Given the description of an element on the screen output the (x, y) to click on. 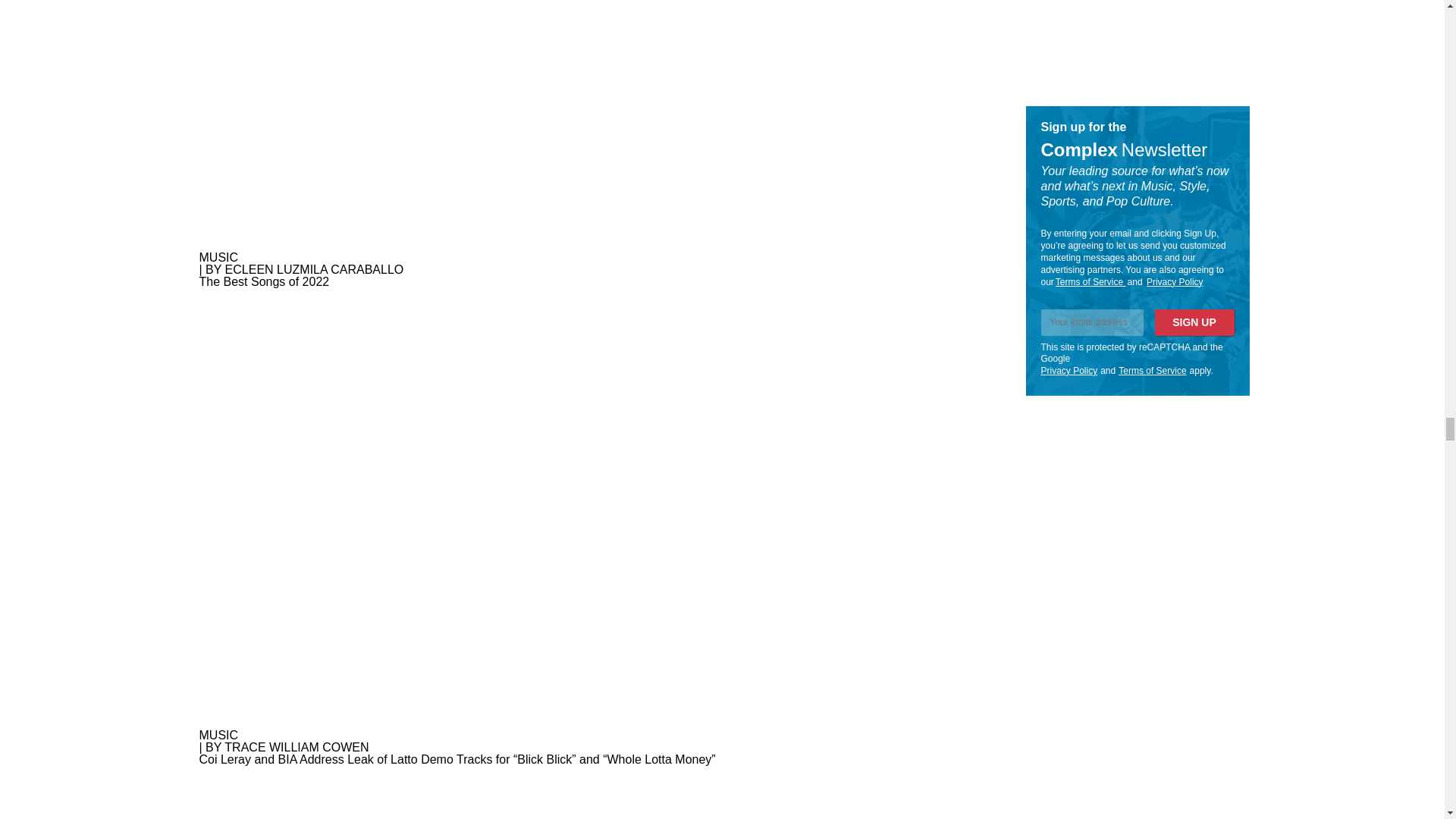
Nicki Minaj shares super freaky girl queen mix (591, 792)
